Given the description of an element on the screen output the (x, y) to click on. 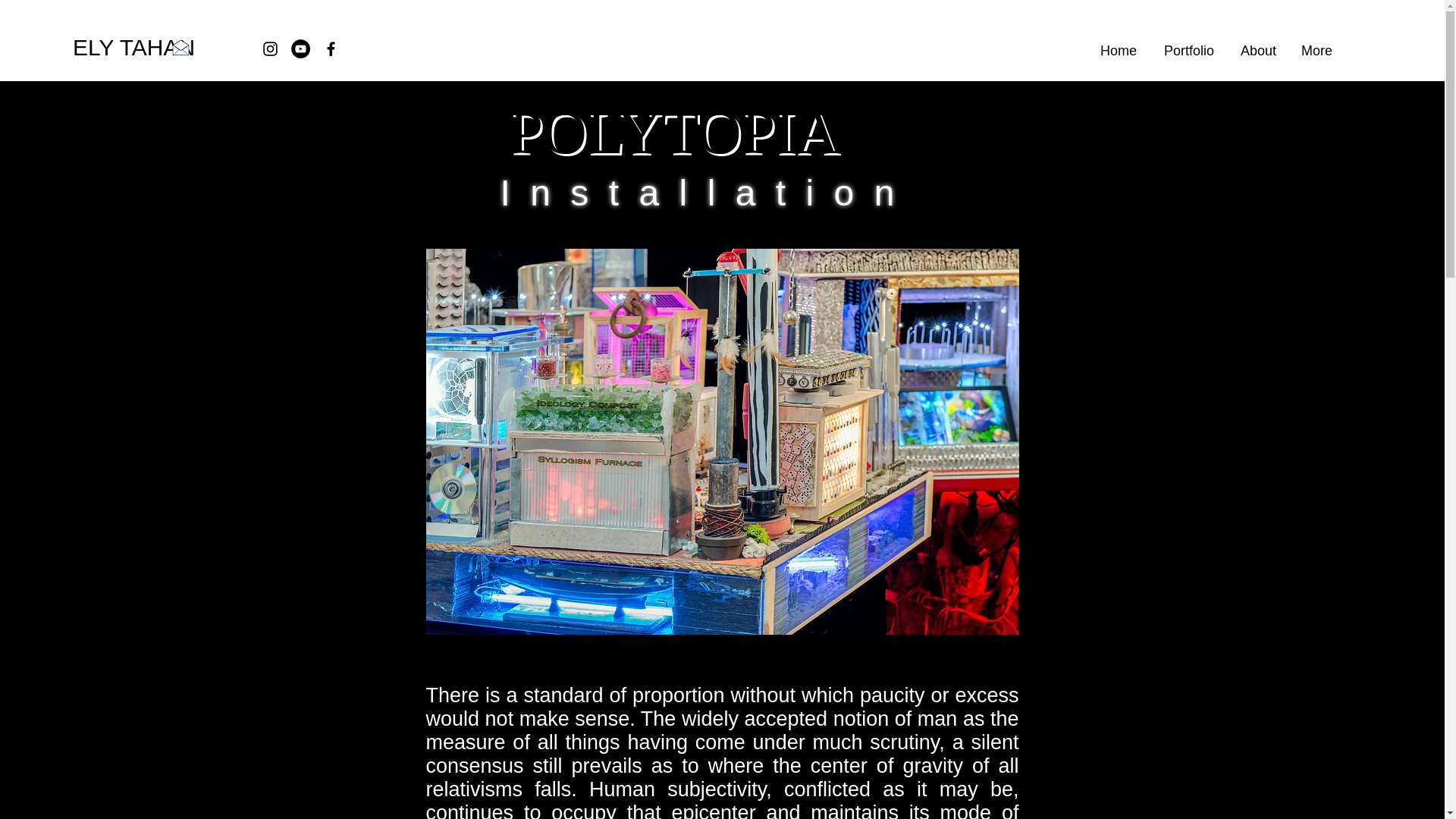
Home (1117, 50)
ELY TAHAN (133, 47)
Portfolio (1186, 50)
About (1256, 50)
